Given the description of an element on the screen output the (x, y) to click on. 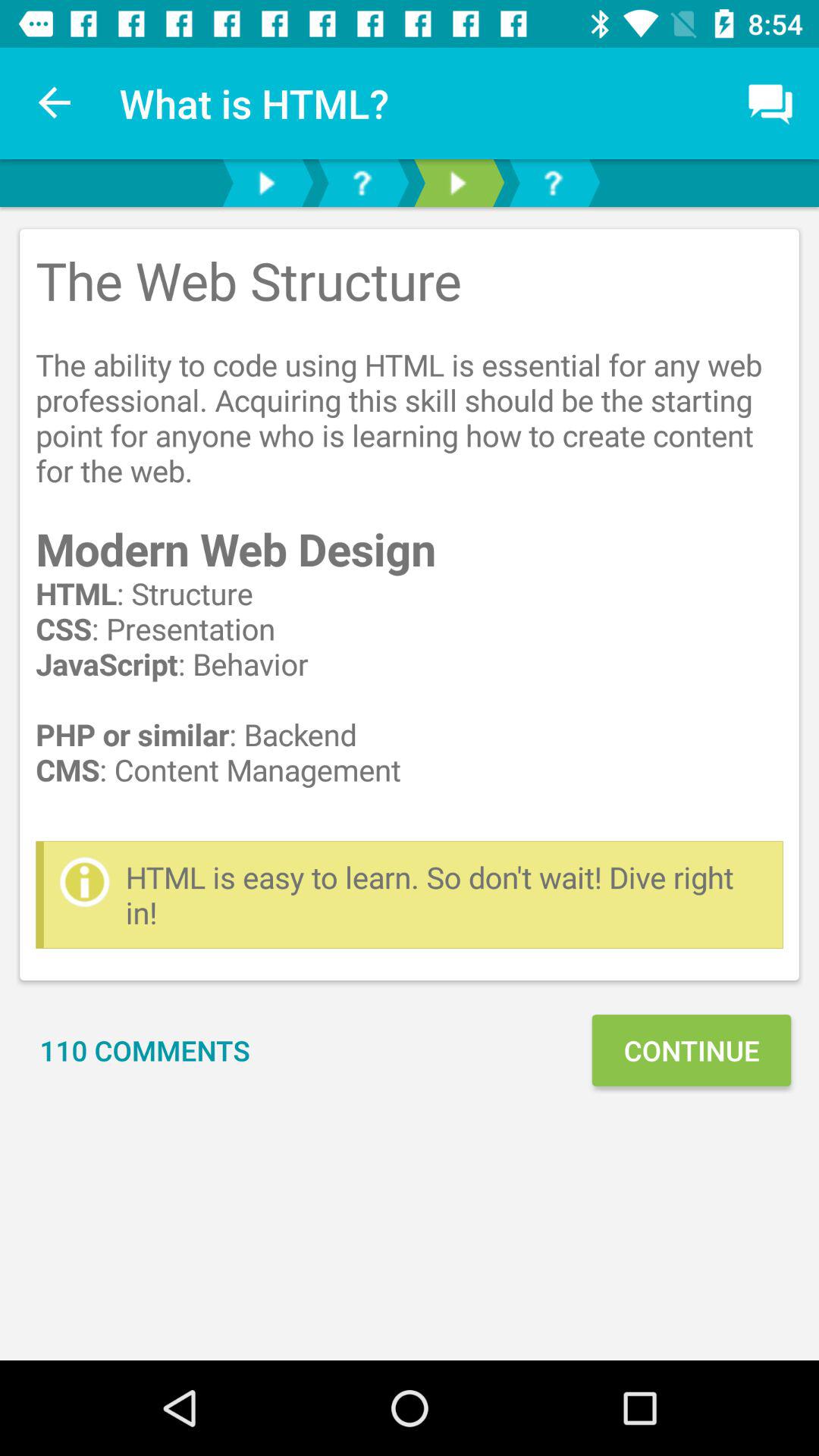
choose icon at the bottom left corner (144, 1050)
